Given the description of an element on the screen output the (x, y) to click on. 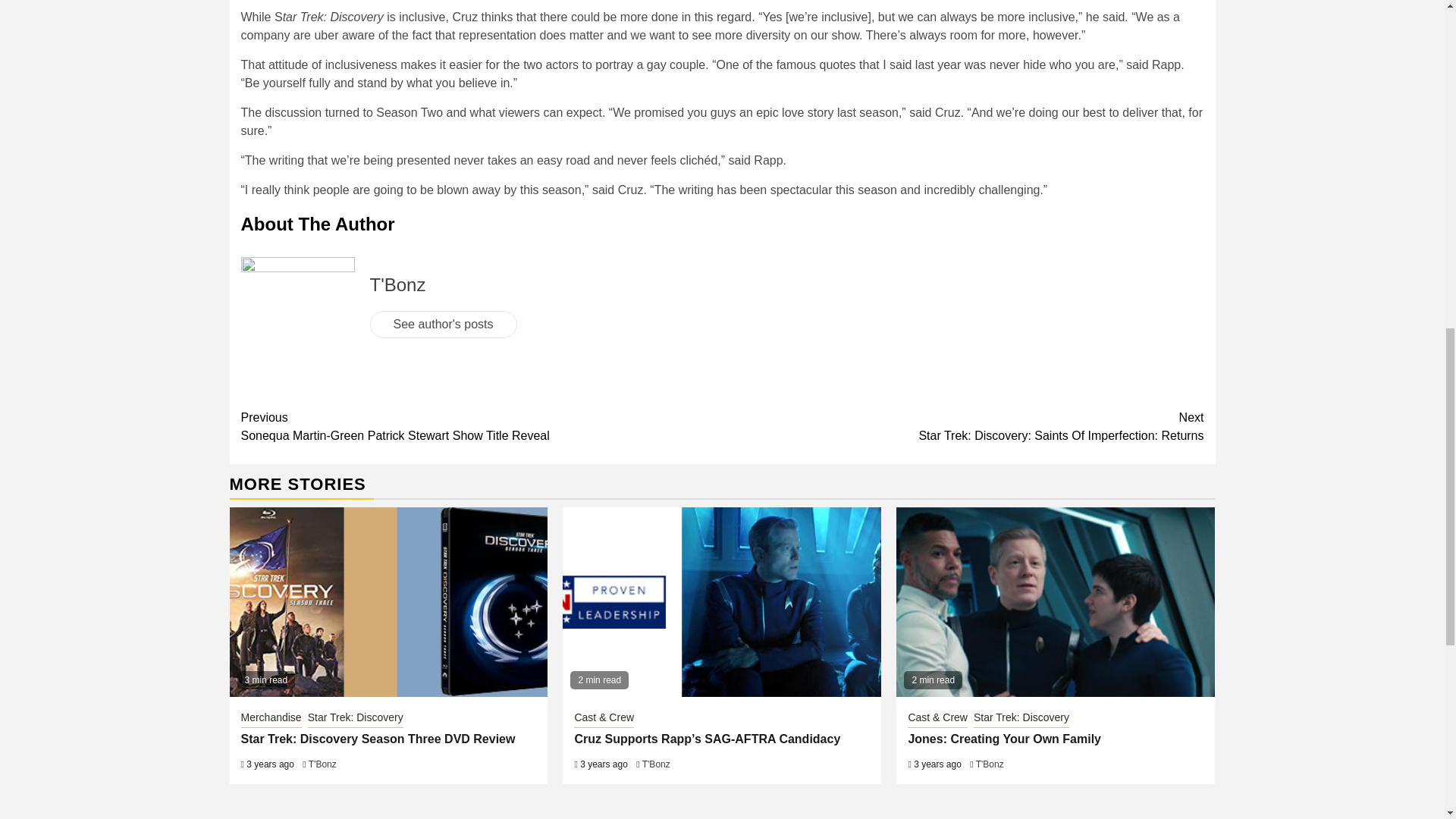
T'Bonz (397, 284)
T'Bonz (322, 764)
Star Trek: Discovery (355, 719)
Merchandise (271, 719)
Star Trek: Discovery Season Three DVD Review (378, 738)
See author's posts (963, 426)
